Given the description of an element on the screen output the (x, y) to click on. 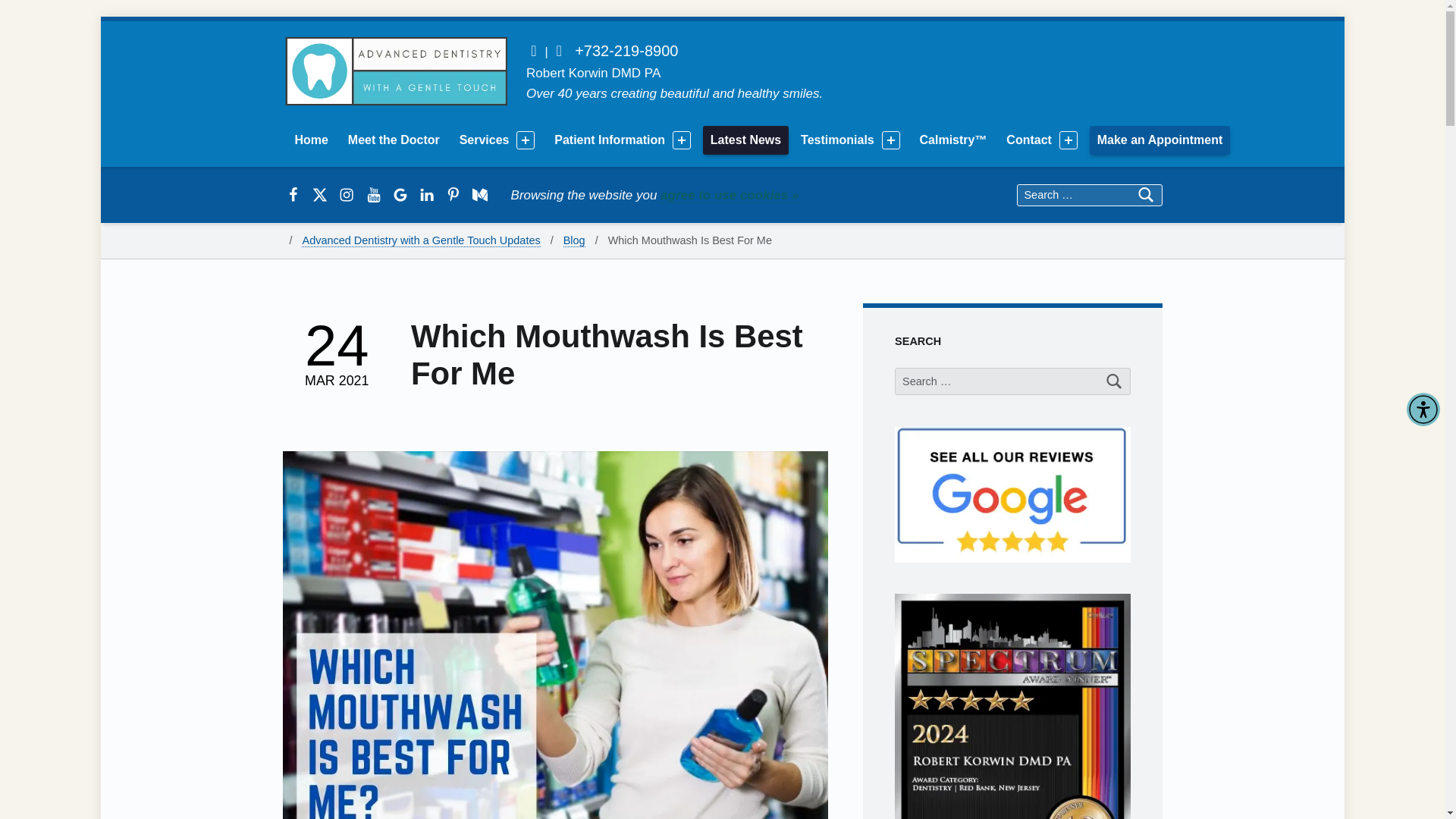
Patient Information (613, 140)
Search (1115, 380)
Contact us (533, 50)
Search (1115, 380)
Services (488, 140)
Robert Korwin DMD MAGD MICOI (393, 140)
Meet the Doctor (393, 140)
Accessibility Menu (1422, 409)
Home (310, 140)
